Given the description of an element on the screen output the (x, y) to click on. 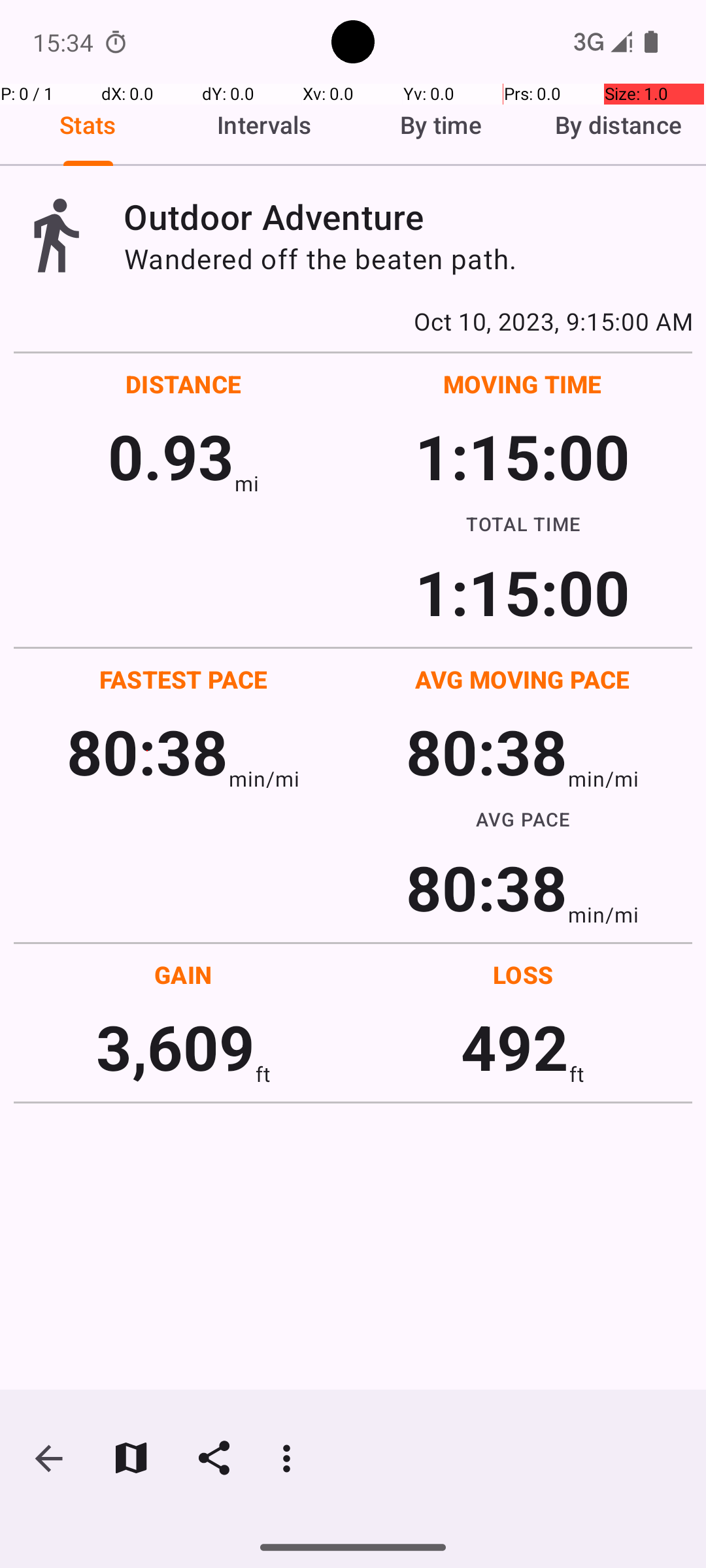
Wandered off the beaten path. Element type: android.widget.TextView (407, 258)
Oct 10, 2023, 9:15:00 AM Element type: android.widget.TextView (352, 320)
0.93 Element type: android.widget.TextView (170, 455)
1:15:00 Element type: android.widget.TextView (522, 455)
80:38 Element type: android.widget.TextView (147, 750)
3,609 Element type: android.widget.TextView (175, 1045)
492 Element type: android.widget.TextView (514, 1045)
